Given the description of an element on the screen output the (x, y) to click on. 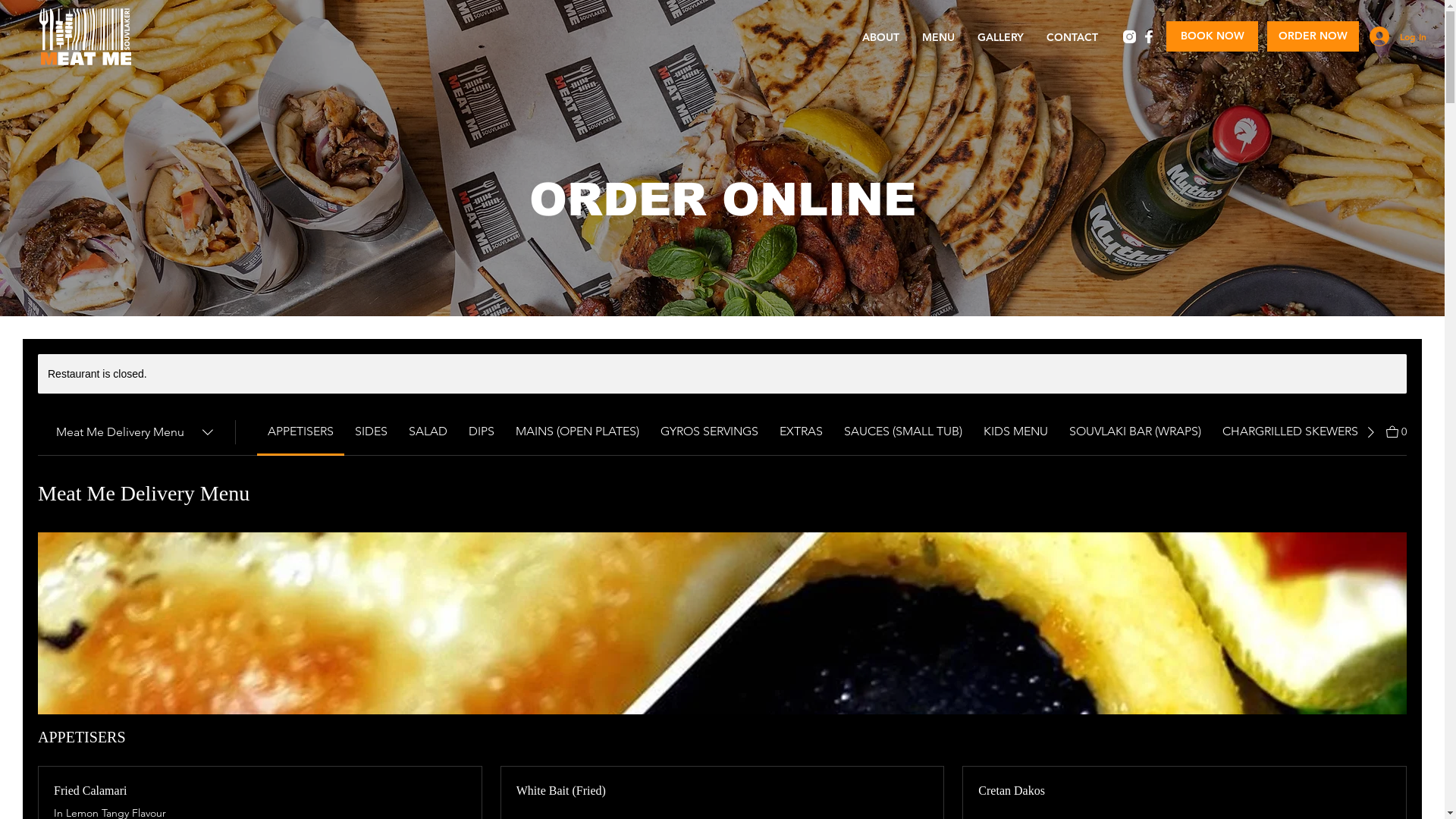
MENU Element type: text (938, 37)
CONTACT Element type: text (1072, 37)
ABOUT Element type: text (880, 37)
Fried Calamari Element type: text (259, 790)
BOOK NOW Element type: text (1212, 36)
Cretan Dakos Element type: text (1184, 790)
0 Element type: text (1396, 430)
White Bait (Fried) Element type: text (722, 790)
GALLERY Element type: text (1000, 37)
Meat Me Delivery Menu Element type: text (136, 432)
Log In Element type: text (1396, 35)
ORDER NOW Element type: text (1312, 36)
